Given the description of an element on the screen output the (x, y) to click on. 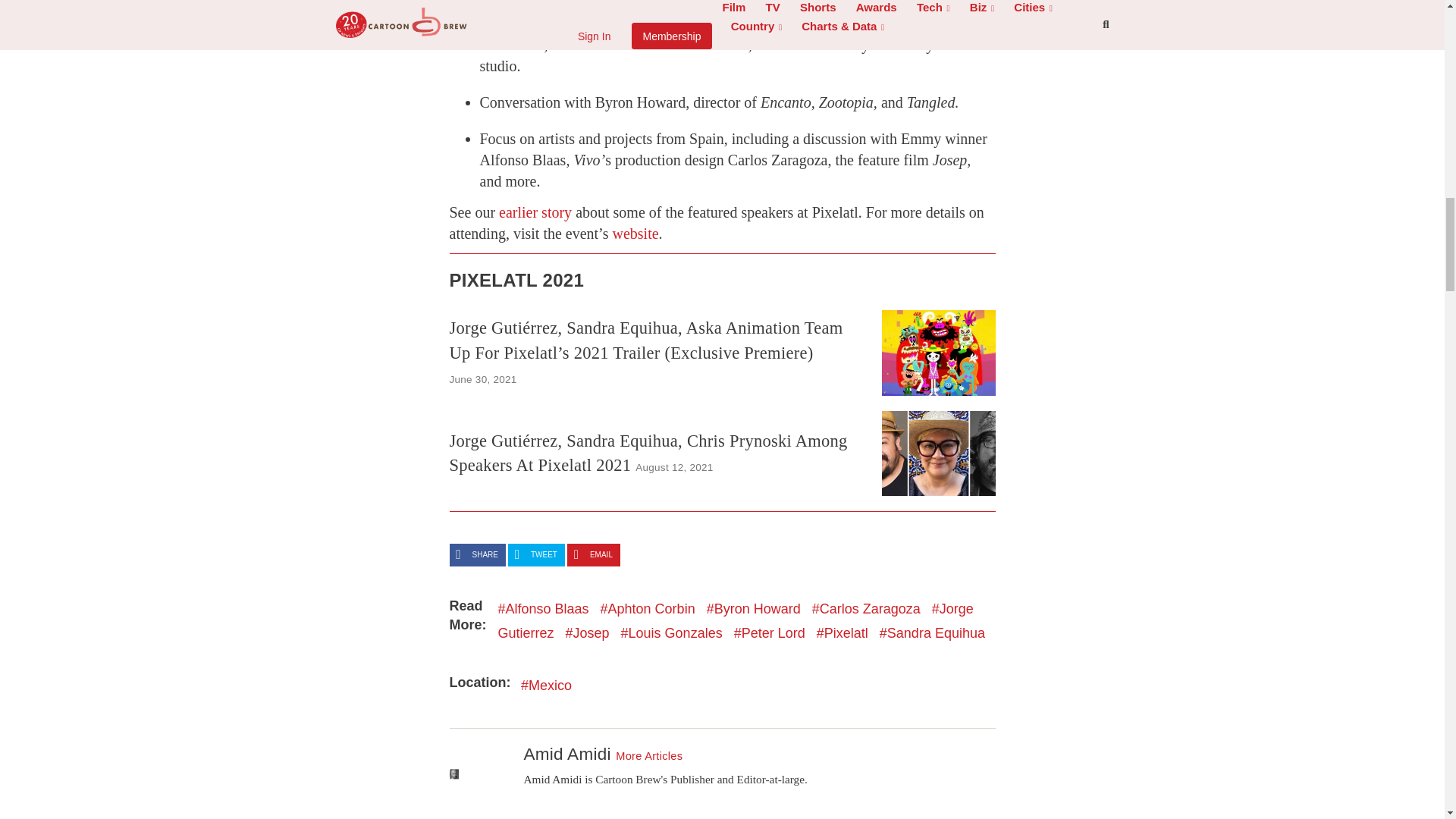
Click to email this to a friend (593, 554)
Click to share on Twitter (536, 554)
Share on Facebook (476, 554)
